Given the description of an element on the screen output the (x, y) to click on. 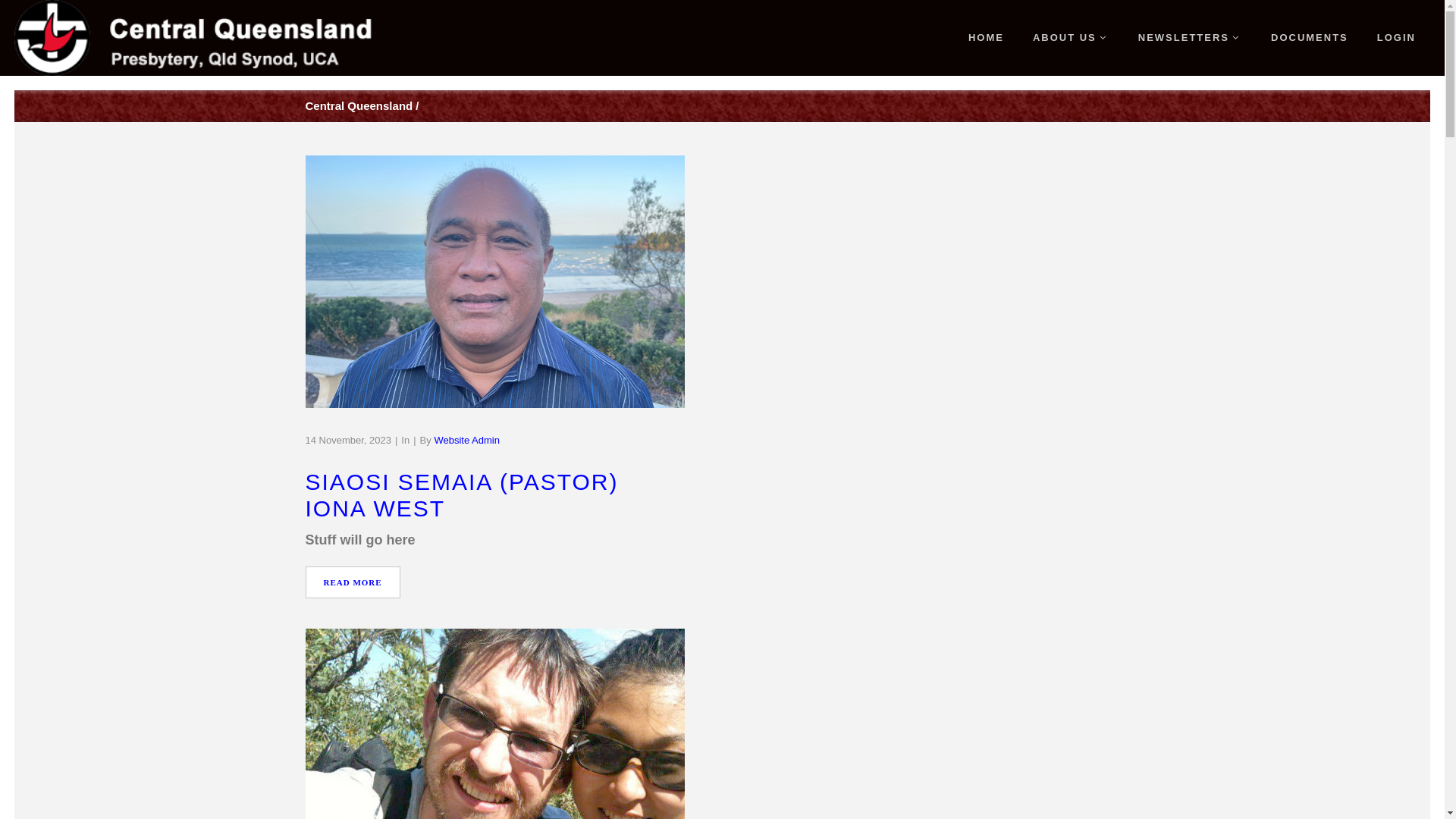
DOCUMENTS Element type: text (1309, 37)
Website Admin Element type: text (465, 439)
ABOUT US Element type: text (1070, 37)
Siaosi Semaia (Pastor)Iona West Element type: hover (494, 281)
LOGIN Element type: text (1396, 37)
READ MORE Element type: text (351, 582)
SIAOSI SEMAIA (PASTOR)
IONA WEST Element type: text (721, 495)
NEWSLETTERS Element type: text (1189, 37)
Central Queensland Element type: text (358, 105)
HOME Element type: text (985, 37)
